Given the description of an element on the screen output the (x, y) to click on. 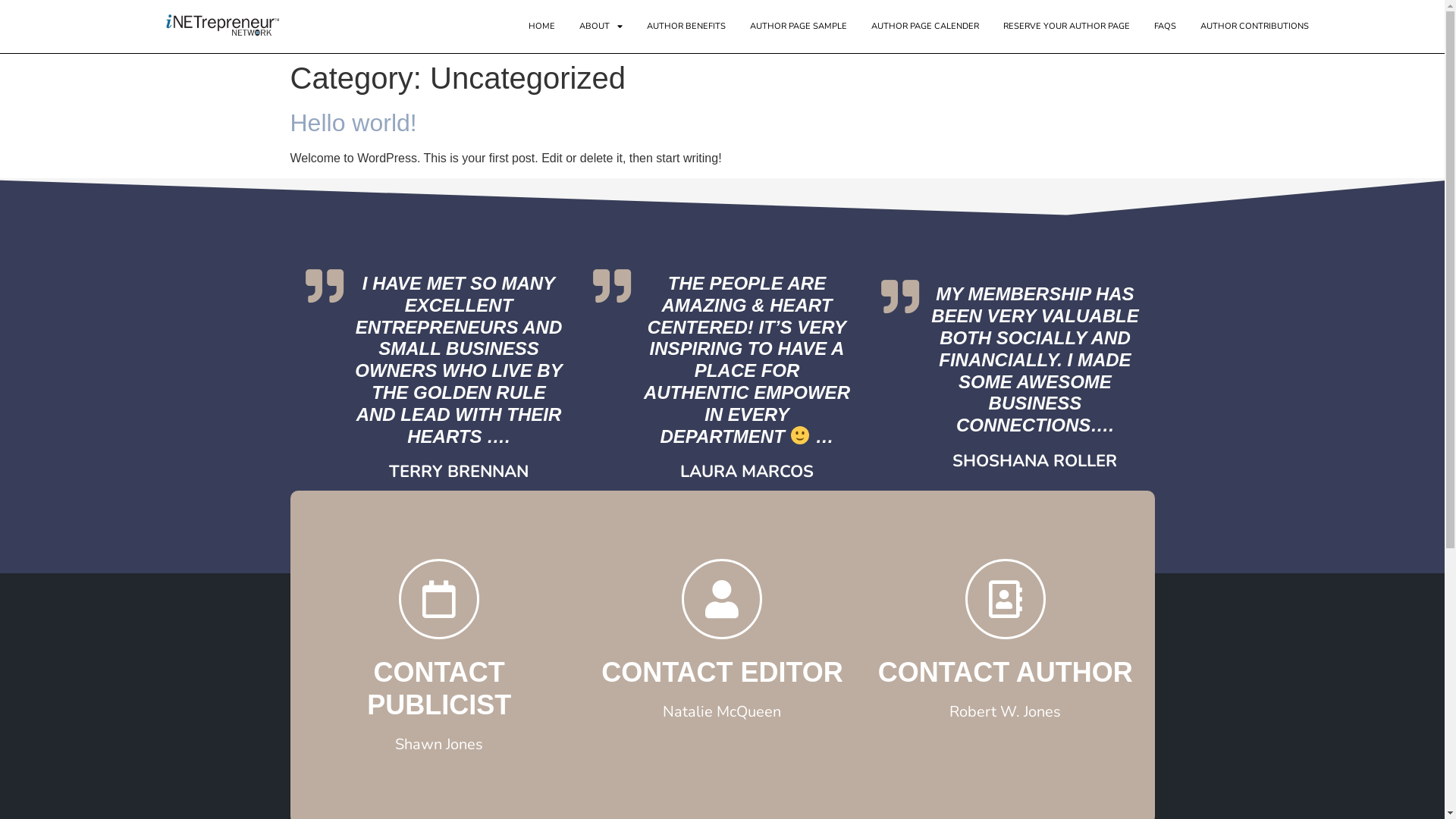
FAQS Element type: text (1165, 26)
ABOUT Element type: text (600, 26)
HOME Element type: text (541, 26)
Hello world! Element type: text (352, 122)
CONTACT AUTHOR Element type: text (1005, 671)
RESERVE YOUR AUTHOR PAGE Element type: text (1066, 26)
AUTHOR BENEFITS Element type: text (685, 26)
AUTHOR CONTRIBUTIONS Element type: text (1254, 26)
CONTACT EDITOR Element type: text (722, 671)
CONTACT PUBLICIST Element type: text (439, 688)
AUTHOR PAGE SAMPLE Element type: text (798, 26)
AUTHOR PAGE CALENDER Element type: text (925, 26)
